Given the description of an element on the screen output the (x, y) to click on. 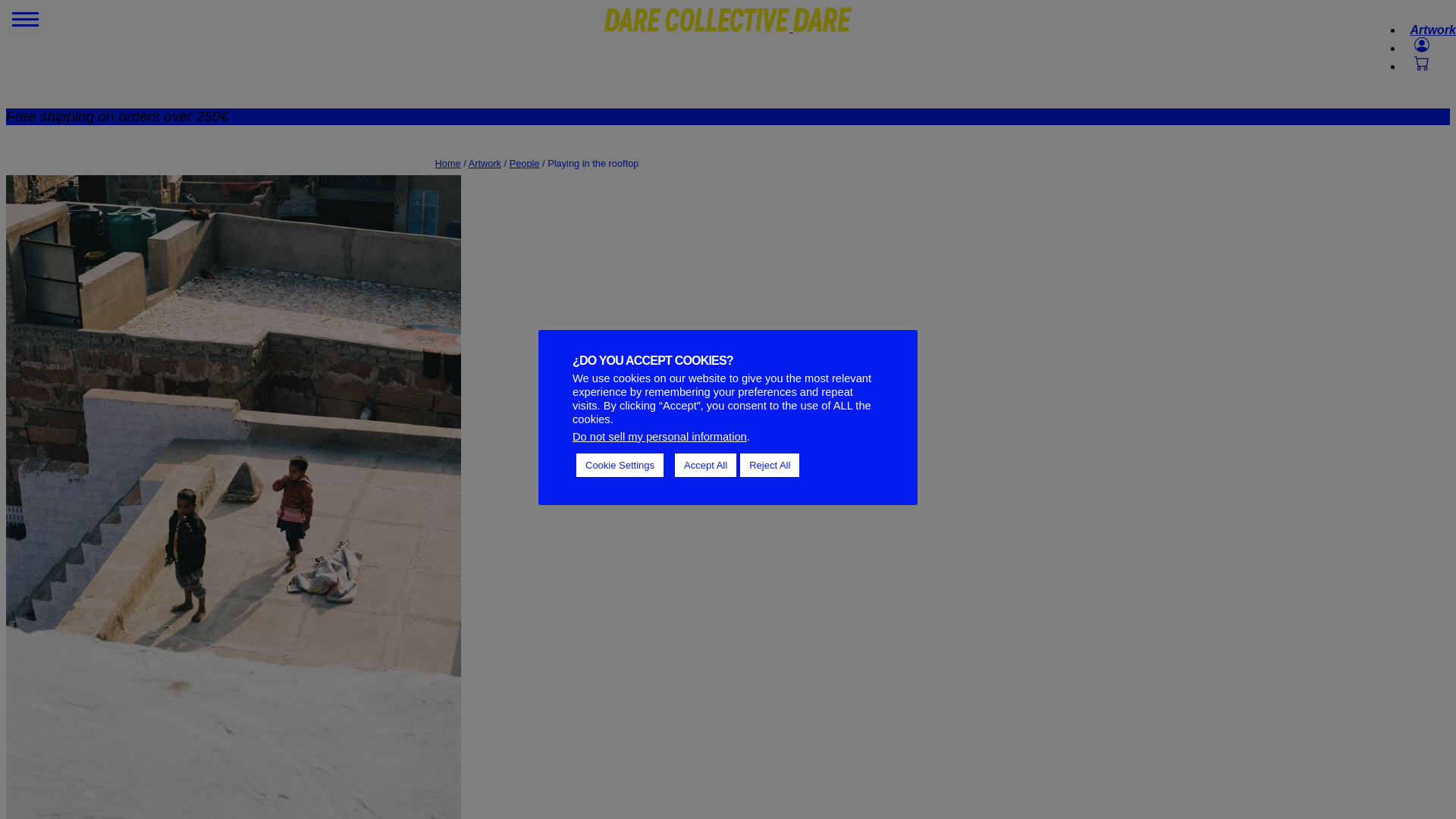
Home (448, 163)
People (524, 163)
Artwork (484, 163)
Cart (1417, 65)
DARE Collective - Home (727, 27)
My account (1417, 47)
